Given the description of an element on the screen output the (x, y) to click on. 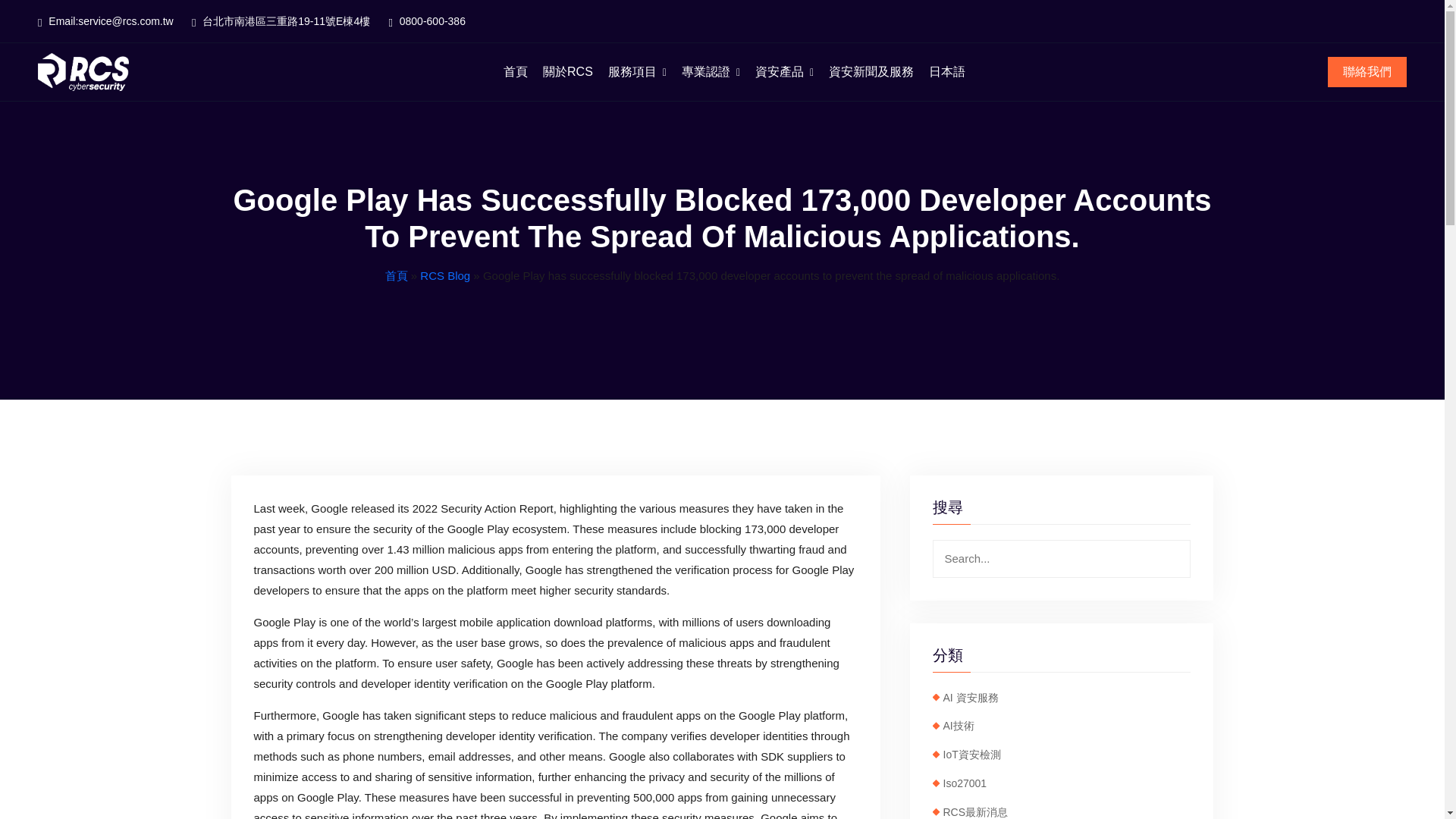
0800-600-386 (426, 22)
